Given the description of an element on the screen output the (x, y) to click on. 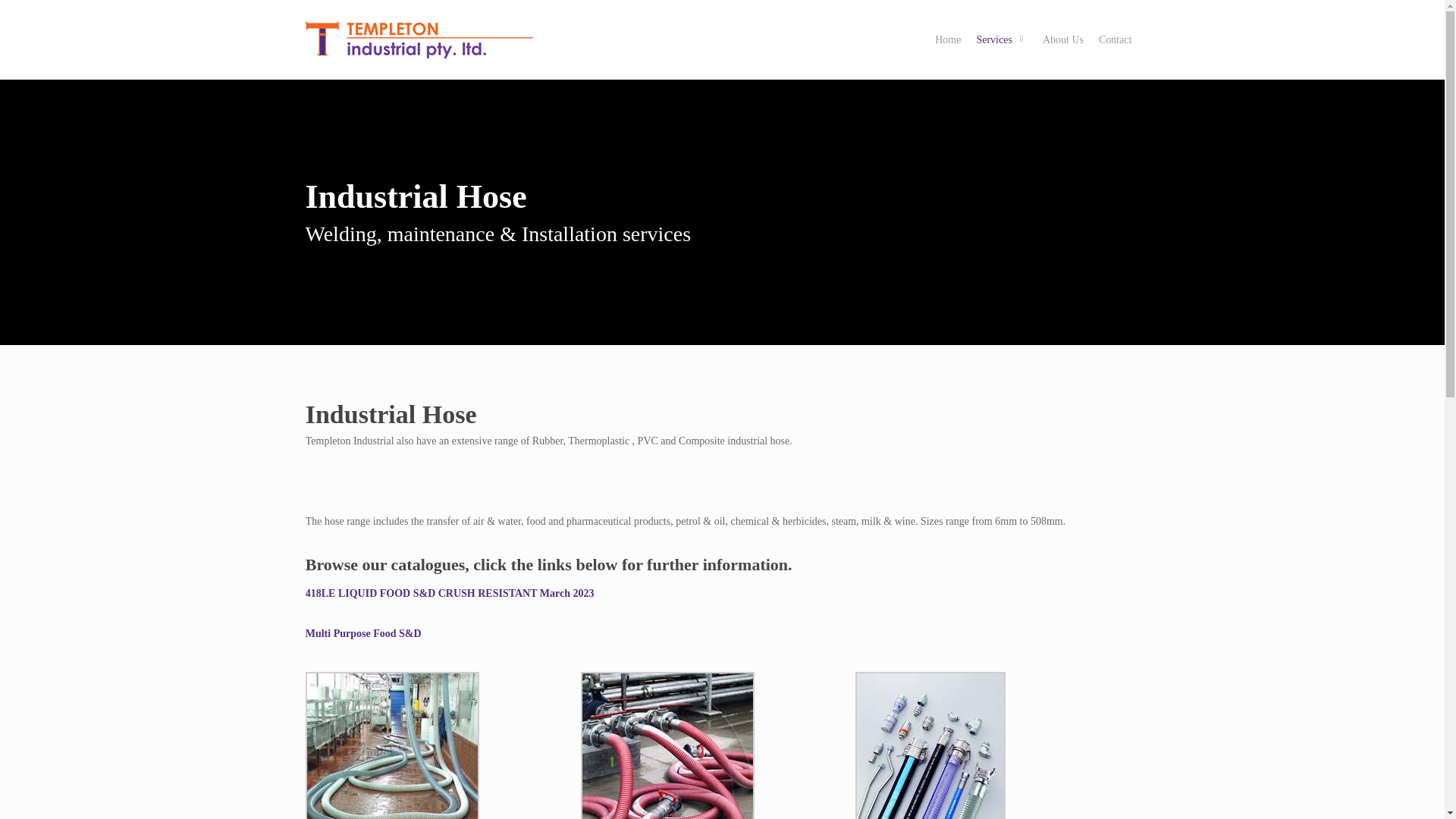
Services (1000, 38)
Home (947, 38)
Contact (1115, 38)
About Us (1062, 38)
